Given the description of an element on the screen output the (x, y) to click on. 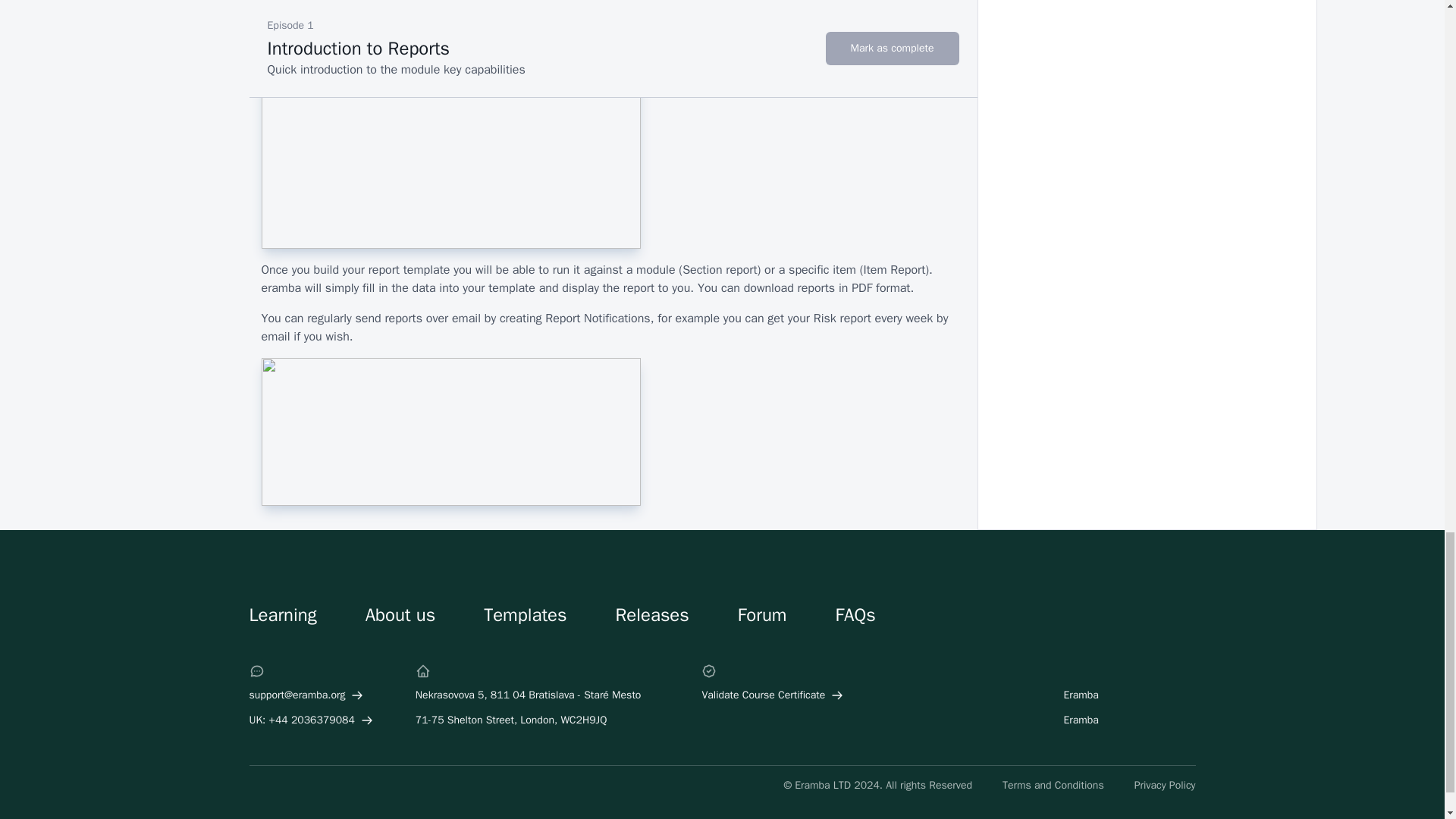
Forum (762, 614)
Learning (281, 614)
Templates (524, 614)
Releases (651, 614)
Eramba (1088, 720)
Forum (762, 614)
Eramba (1088, 695)
Releases (651, 614)
Learning (281, 614)
Terms and Conditions (1053, 785)
